Given the description of an element on the screen output the (x, y) to click on. 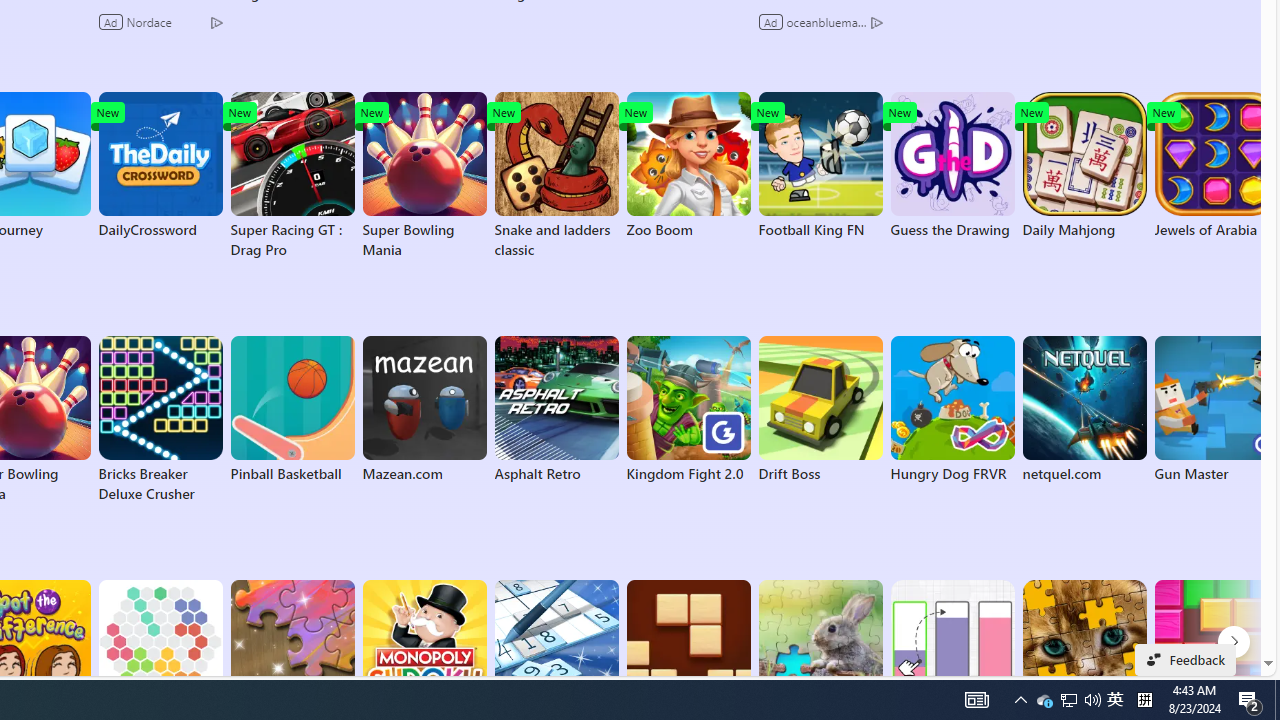
Drift Boss (820, 409)
Bricks Breaker Deluxe Crusher (160, 419)
Kingdom Fight 2.0 (688, 409)
Asphalt Retro (556, 409)
Class: ad-choice  ad-choice-mono  (876, 21)
netquel.com (1083, 409)
Guess the Drawing (952, 165)
Puzzle next page (1233, 641)
